Given the description of an element on the screen output the (x, y) to click on. 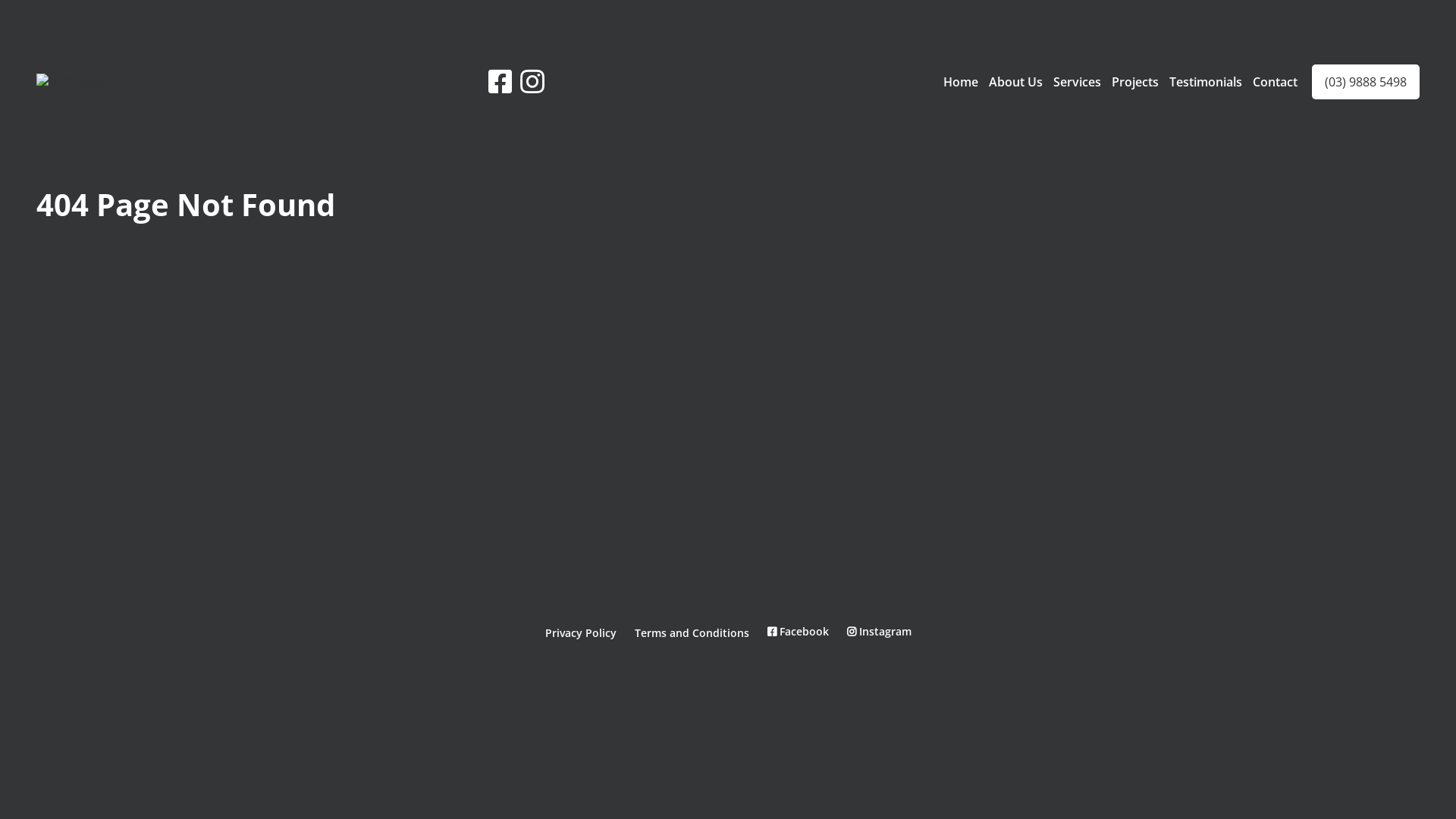
Projects Element type: text (1134, 80)
Terms and Conditions Element type: text (690, 632)
Contact Element type: text (1274, 80)
(03) 9888 5498 Element type: text (1365, 80)
Facebook Element type: text (797, 631)
About Us Element type: text (1015, 80)
Home Element type: text (960, 80)
Services Element type: text (1077, 80)
Testimonials Element type: text (1205, 80)
Privacy Policy Element type: text (579, 632)
Instagram Element type: text (878, 631)
